Given the description of an element on the screen output the (x, y) to click on. 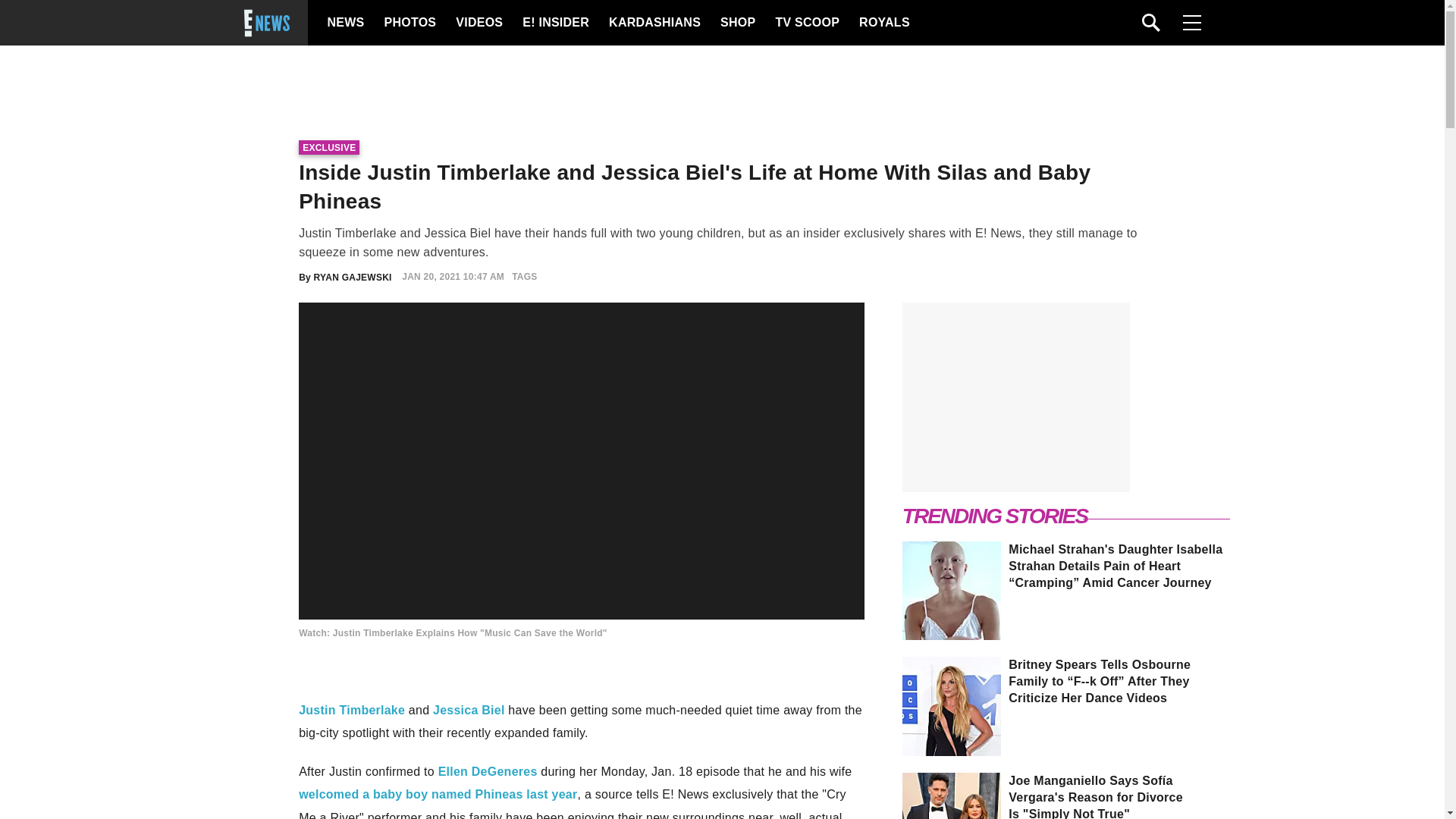
Jessica Biel (468, 709)
Justin Timberlake (351, 709)
E! INSIDER (555, 22)
welcomed a baby boy named Phineas last year (437, 793)
ROYALS (883, 22)
NEWS (345, 22)
TV SCOOP (806, 22)
RYAN GAJEWSKI (352, 276)
PHOTOS (408, 22)
KARDASHIANS (653, 22)
VIDEOS (478, 22)
SHOP (737, 22)
Ellen DeGeneres (487, 771)
